Given the description of an element on the screen output the (x, y) to click on. 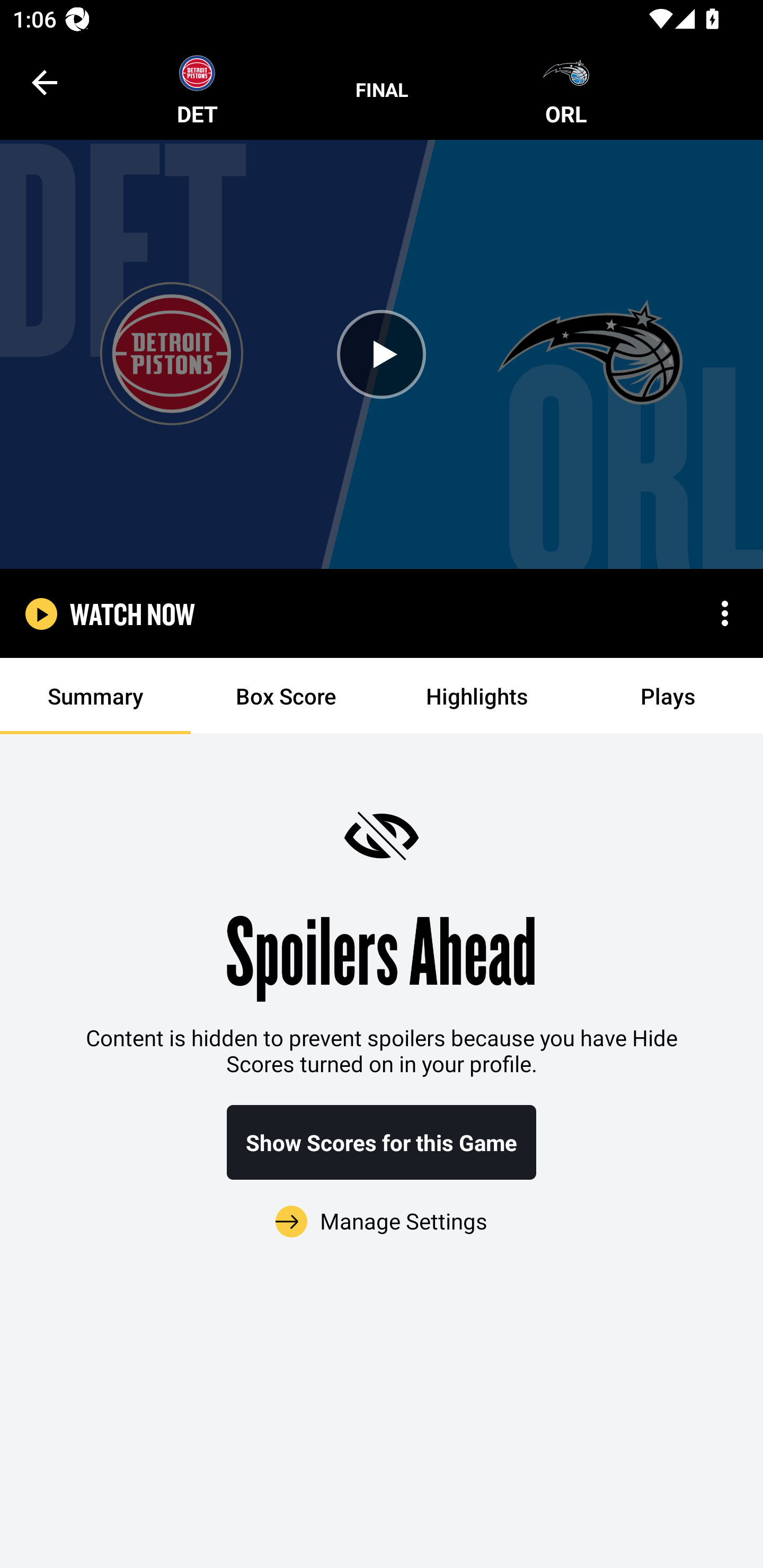
Navigate up (44, 82)
More options (724, 613)
WATCH NOW (132, 613)
Box Score (285, 695)
Highlights (476, 695)
Plays (667, 695)
Show Scores for this Game (381, 1141)
Manage Settings (381, 1210)
